Given the description of an element on the screen output the (x, y) to click on. 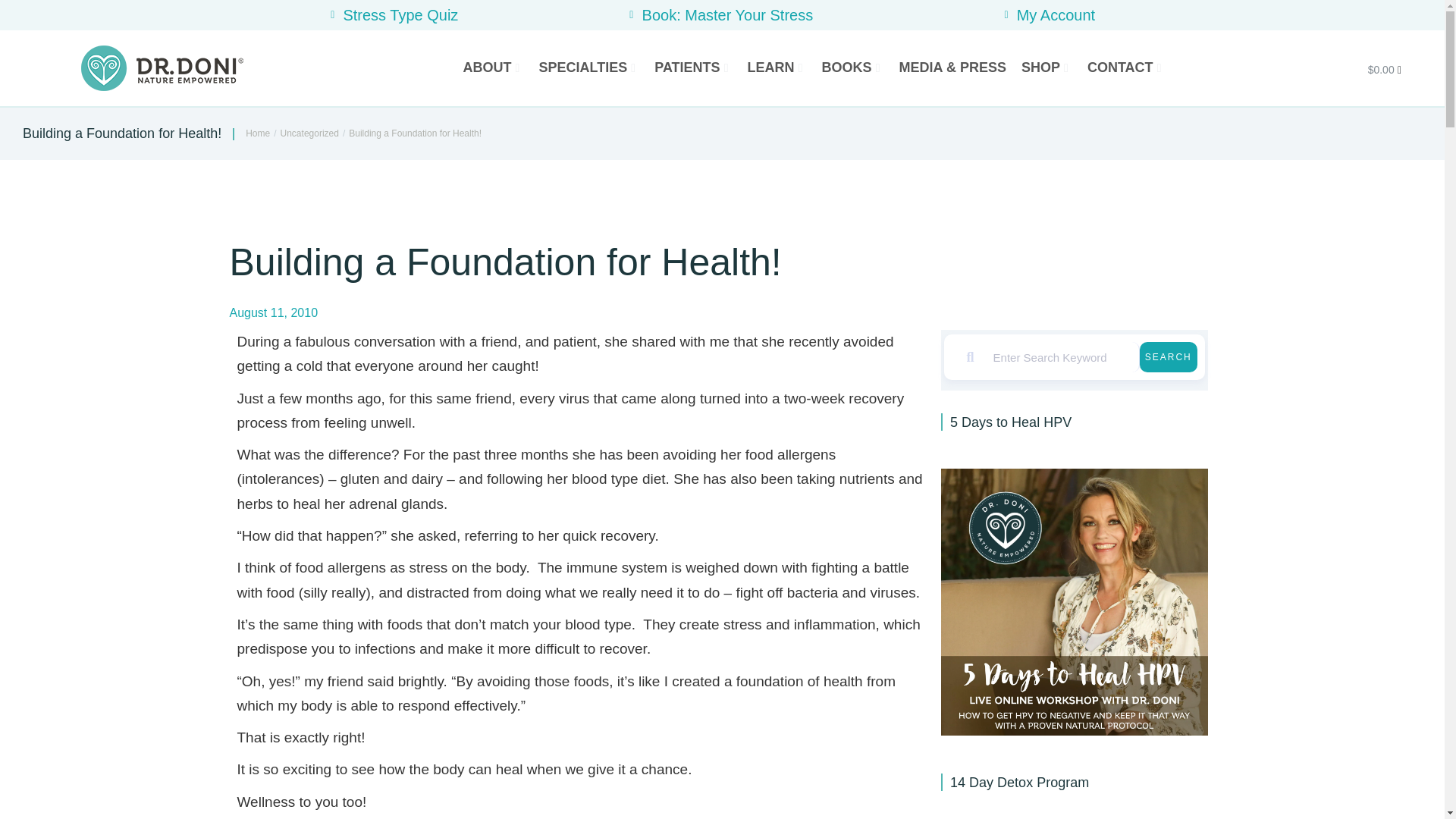
Stress Type Quiz (391, 15)
Home (257, 133)
LEARN (777, 67)
SPECIALTIES (589, 67)
ABOUT (493, 67)
PATIENTS (692, 67)
LEARN (777, 67)
Uncategorized (310, 133)
My Account (1046, 15)
Book: Master Your Stress (719, 15)
